Given the description of an element on the screen output the (x, y) to click on. 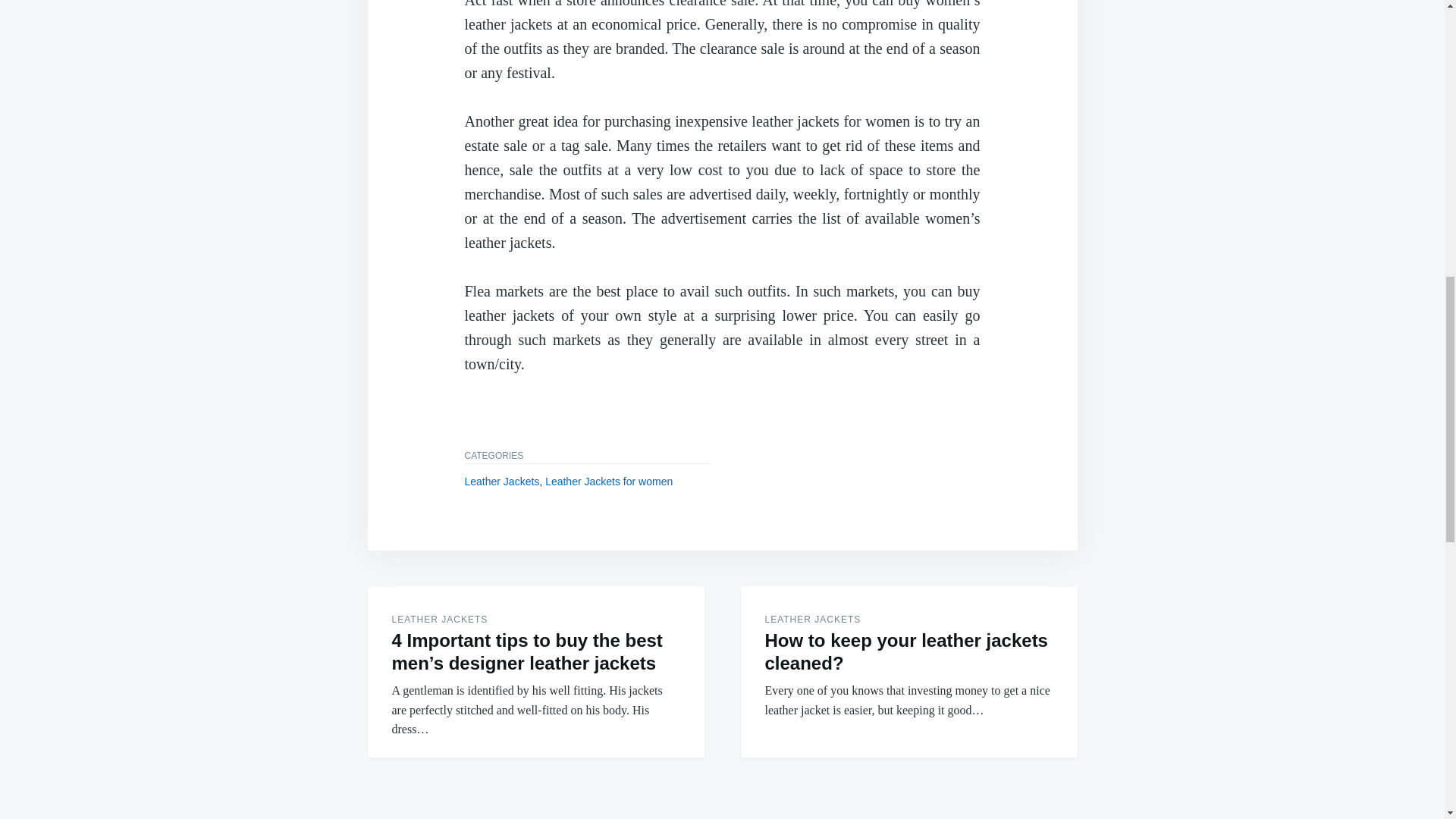
How to keep your leather jackets cleaned? (905, 651)
Leather Jackets (501, 481)
LEATHER JACKETS (439, 619)
Leather Jackets for women (608, 481)
LEATHER JACKETS (812, 619)
